Given the description of an element on the screen output the (x, y) to click on. 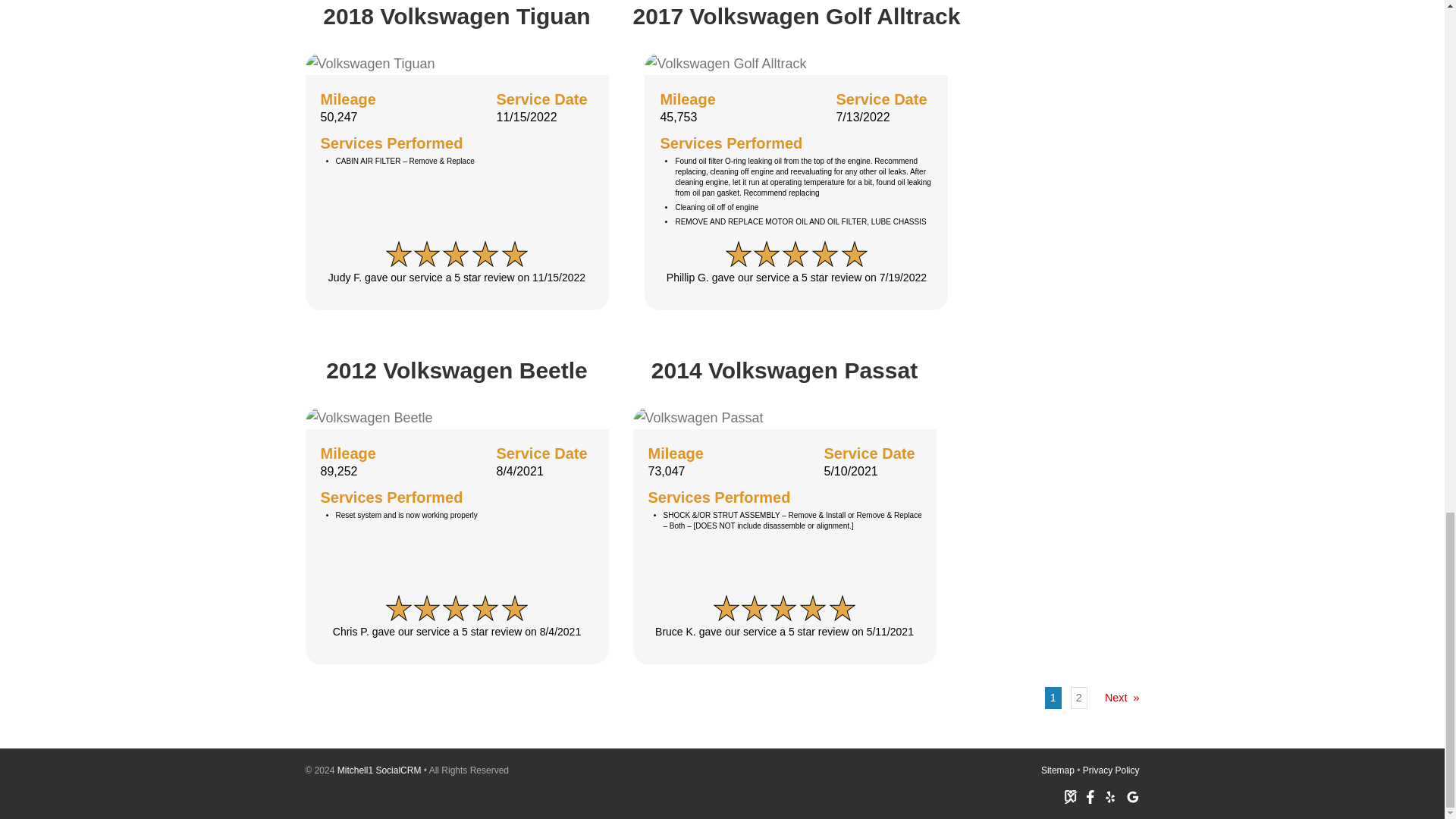
Yelp (1109, 796)
SureCritic (1070, 796)
Mitchell1 SocialCRM (379, 769)
